Given the description of an element on the screen output the (x, y) to click on. 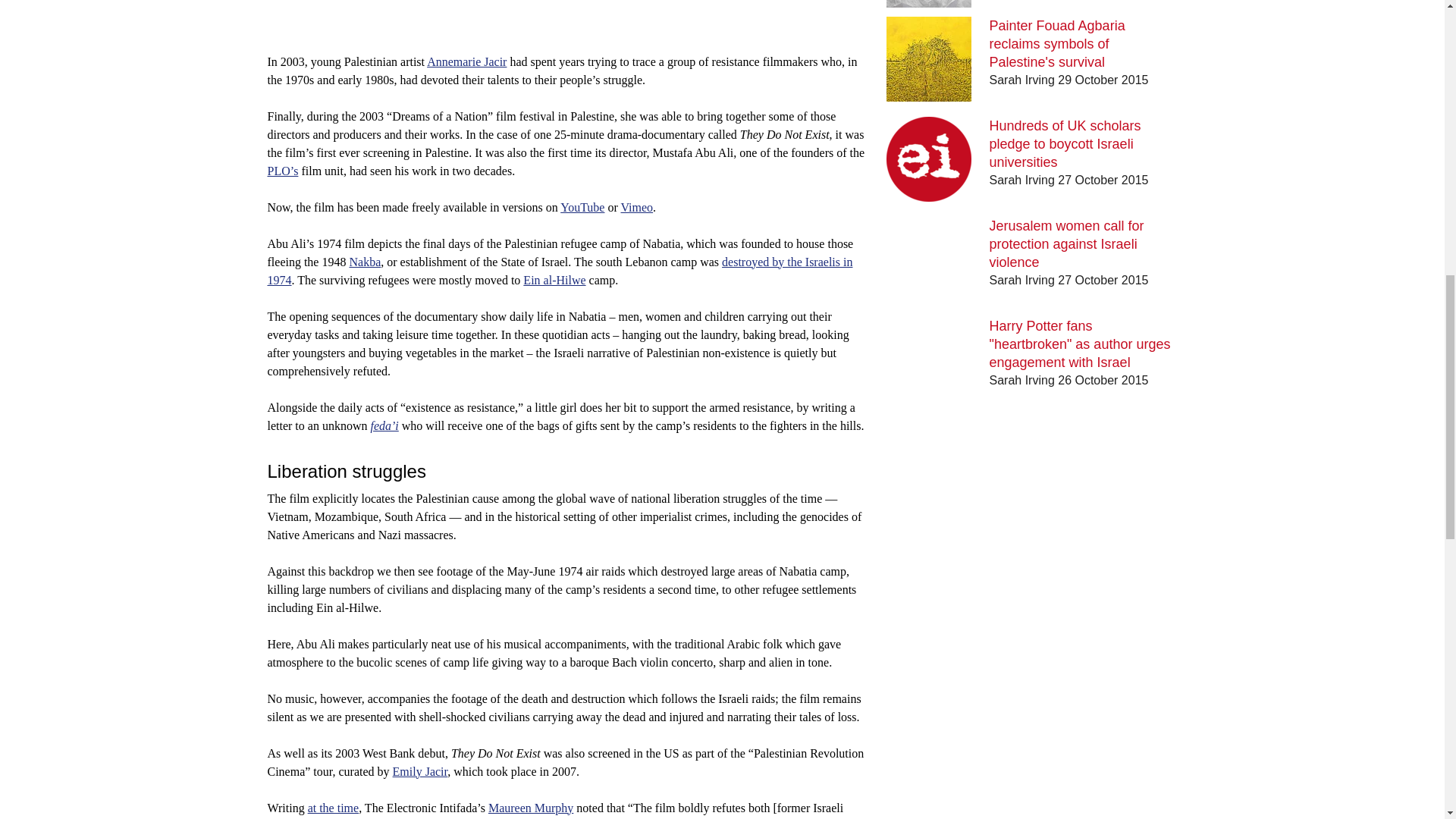
destroyed by the Israelis in 1974 (558, 270)
YouTube (582, 206)
Annemarie Jacir (466, 61)
Vimeo (636, 206)
Nakba (364, 261)
Emily Jacir (420, 771)
at the time (333, 807)
Ein al-Hilwe (553, 279)
Maureen Murphy (530, 807)
